Given the description of an element on the screen output the (x, y) to click on. 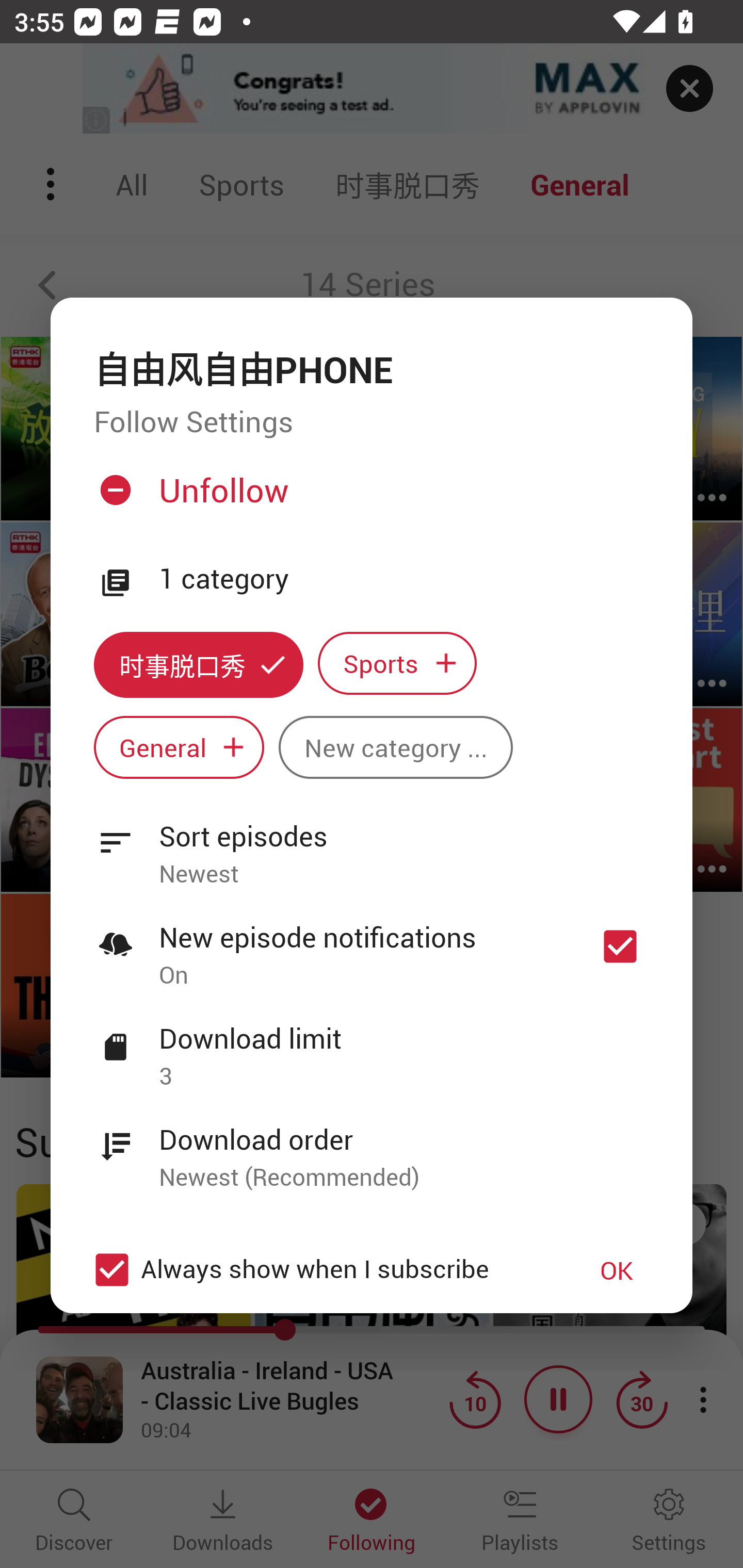
Unfollow (369, 498)
1 category (404, 578)
时事脱口秀 (198, 664)
Sports (397, 662)
General (178, 747)
New category ... (395, 747)
Sort episodes Newest (371, 843)
New episode notifications (620, 946)
Download limit 3 (371, 1045)
Download order Newest (Recommended) (371, 1146)
OK (616, 1269)
Always show when I subscribe (320, 1269)
